Given the description of an element on the screen output the (x, y) to click on. 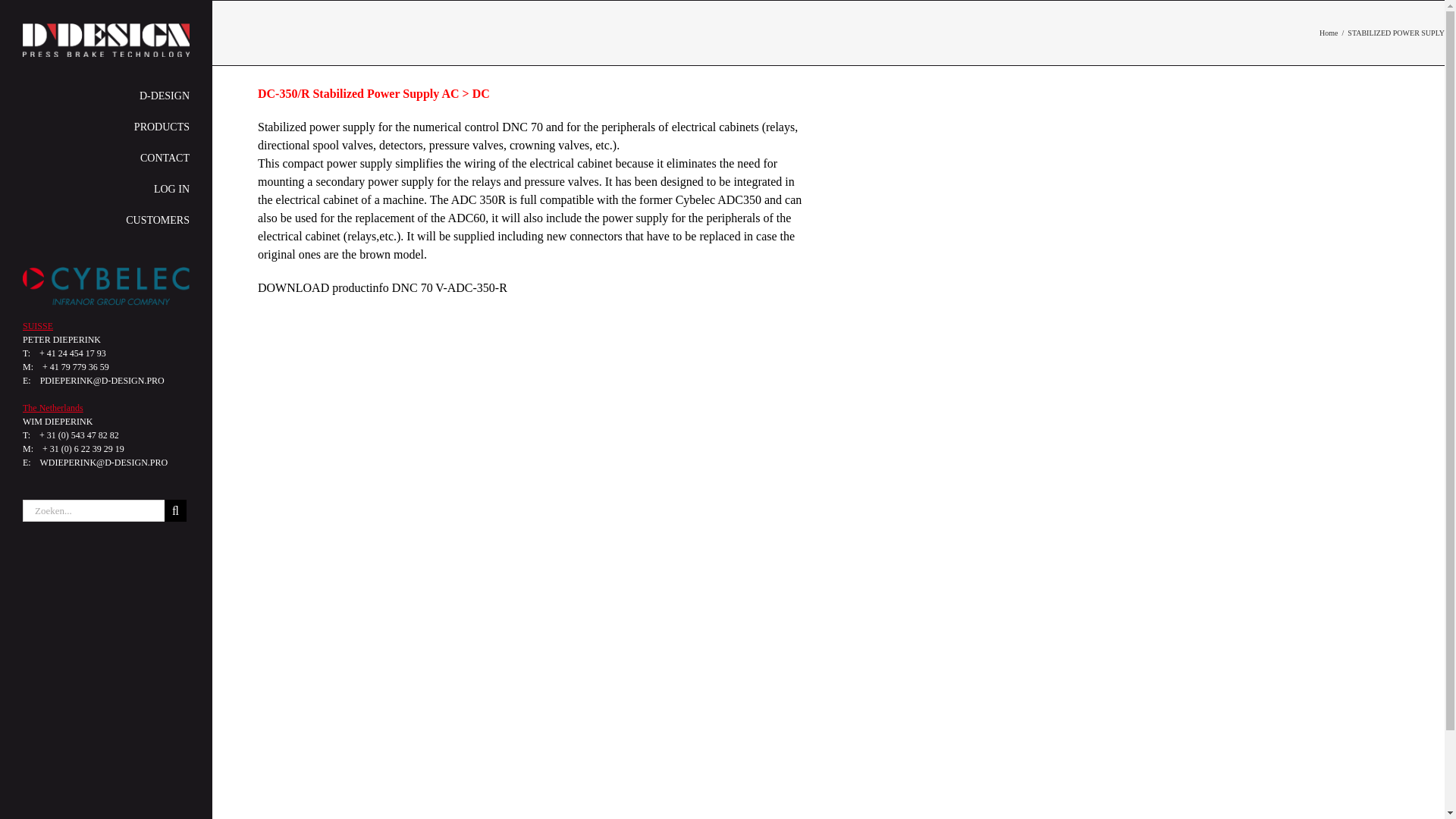
D-DESIGN (106, 96)
Home (1328, 32)
LOG IN (106, 189)
PRODUCTS (106, 127)
CUSTOMERS (106, 220)
CONTACT (106, 158)
